Given the description of an element on the screen output the (x, y) to click on. 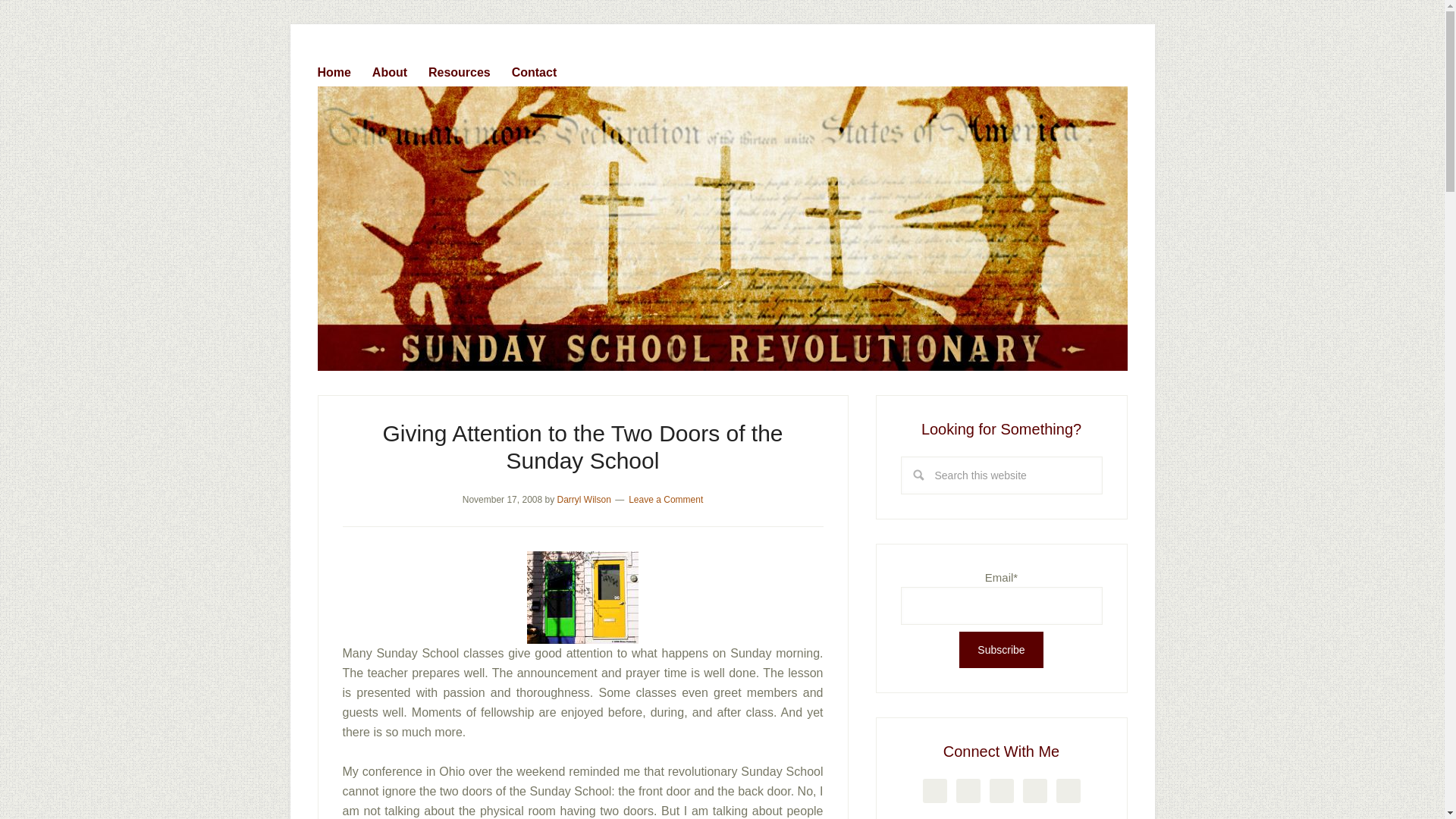
Resources (468, 68)
Subscribe (1000, 649)
Leave a Comment (665, 499)
Darryl Wilson (583, 499)
Subscribe (1000, 649)
Contact (543, 68)
Home (342, 68)
About (398, 68)
